Given the description of an element on the screen output the (x, y) to click on. 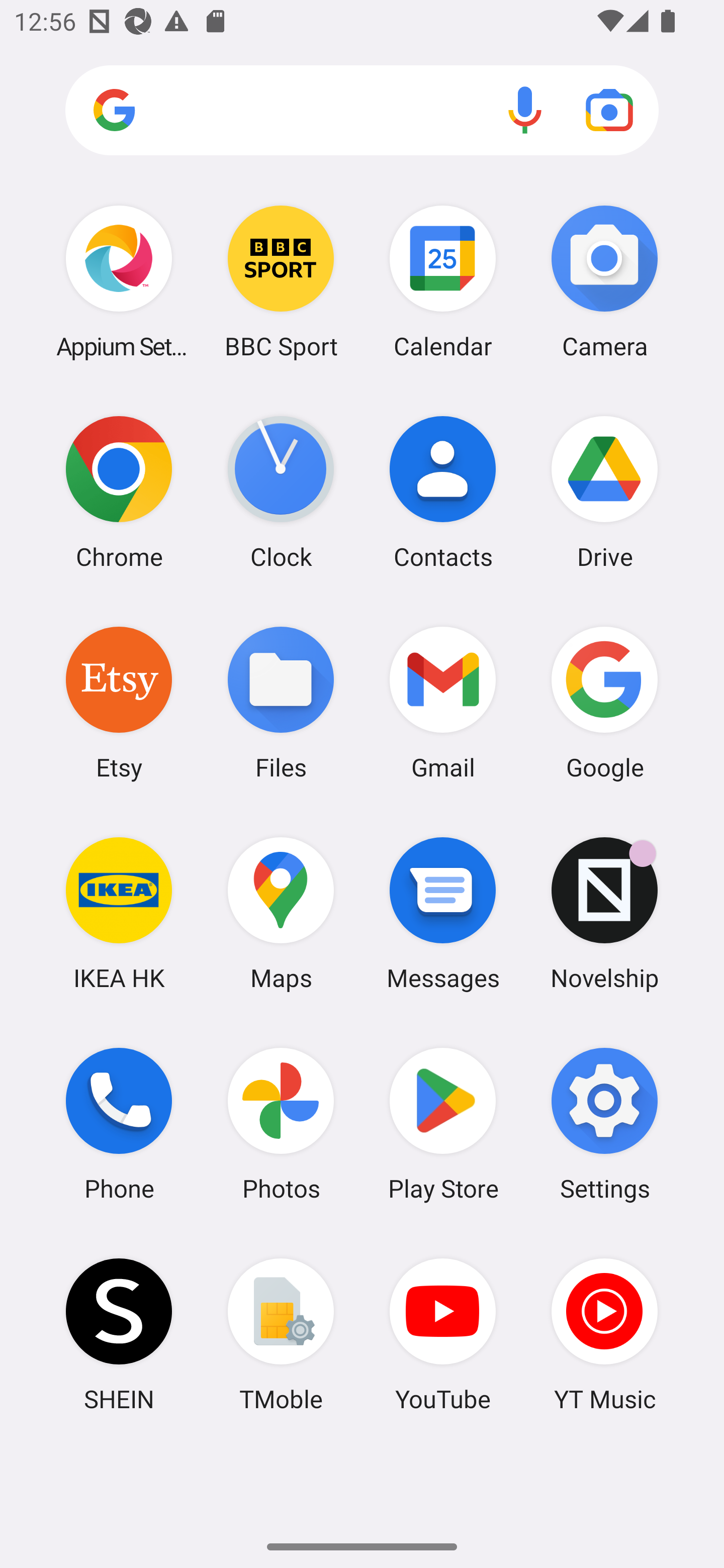
Search apps, web and more (361, 110)
Voice search (524, 109)
Google Lens (608, 109)
Appium Settings (118, 281)
BBC Sport (280, 281)
Calendar (443, 281)
Camera (604, 281)
Chrome (118, 492)
Clock (280, 492)
Contacts (443, 492)
Drive (604, 492)
Etsy (118, 702)
Files (280, 702)
Gmail (443, 702)
Google (604, 702)
IKEA HK (118, 913)
Maps (280, 913)
Messages (443, 913)
Novelship Novelship has 7 notifications (604, 913)
Phone (118, 1124)
Photos (280, 1124)
Play Store (443, 1124)
Settings (604, 1124)
SHEIN (118, 1334)
TMoble (280, 1334)
YouTube (443, 1334)
YT Music (604, 1334)
